Given the description of an element on the screen output the (x, y) to click on. 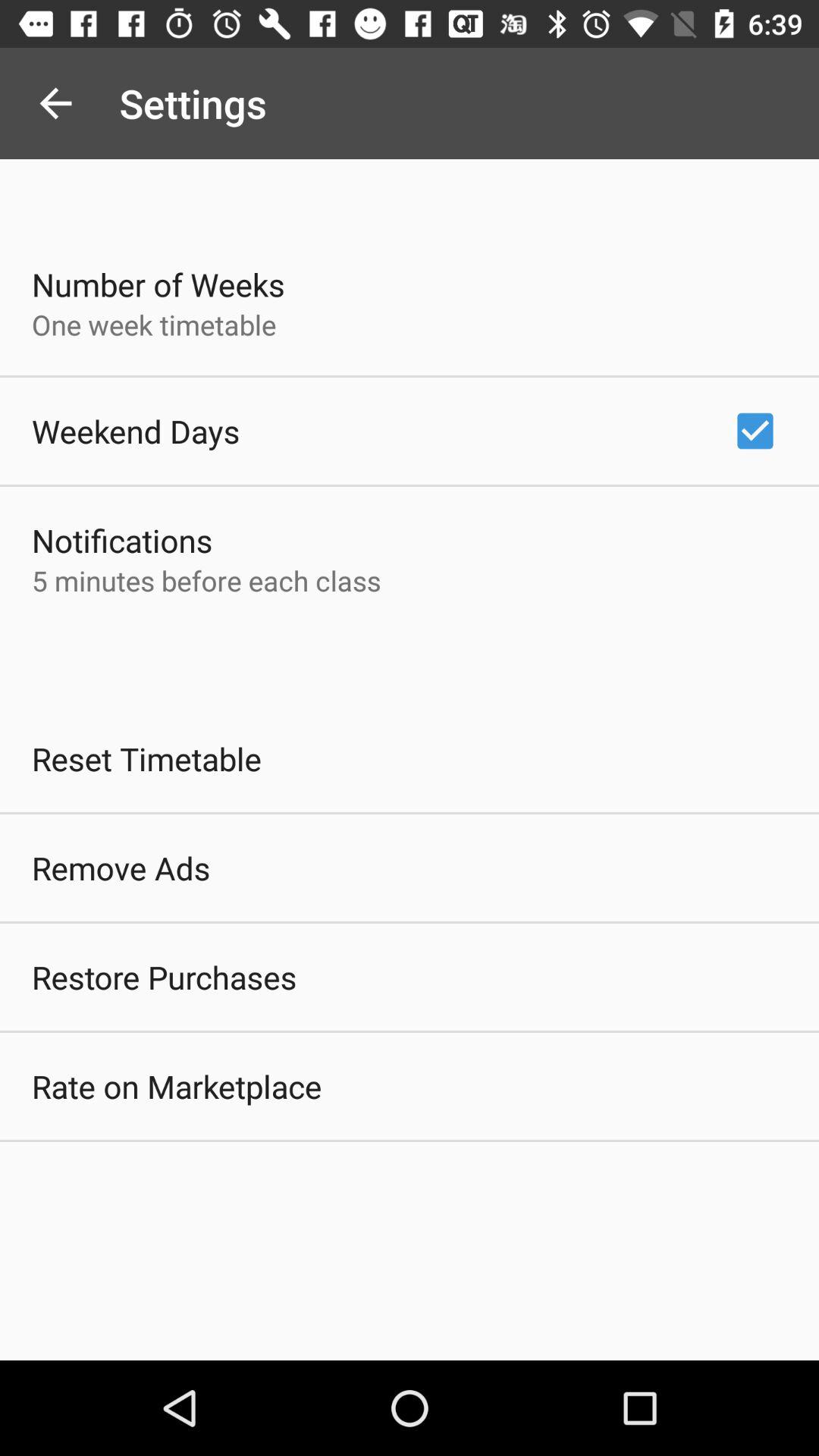
press icon below the weekend days (121, 539)
